Given the description of an element on the screen output the (x, y) to click on. 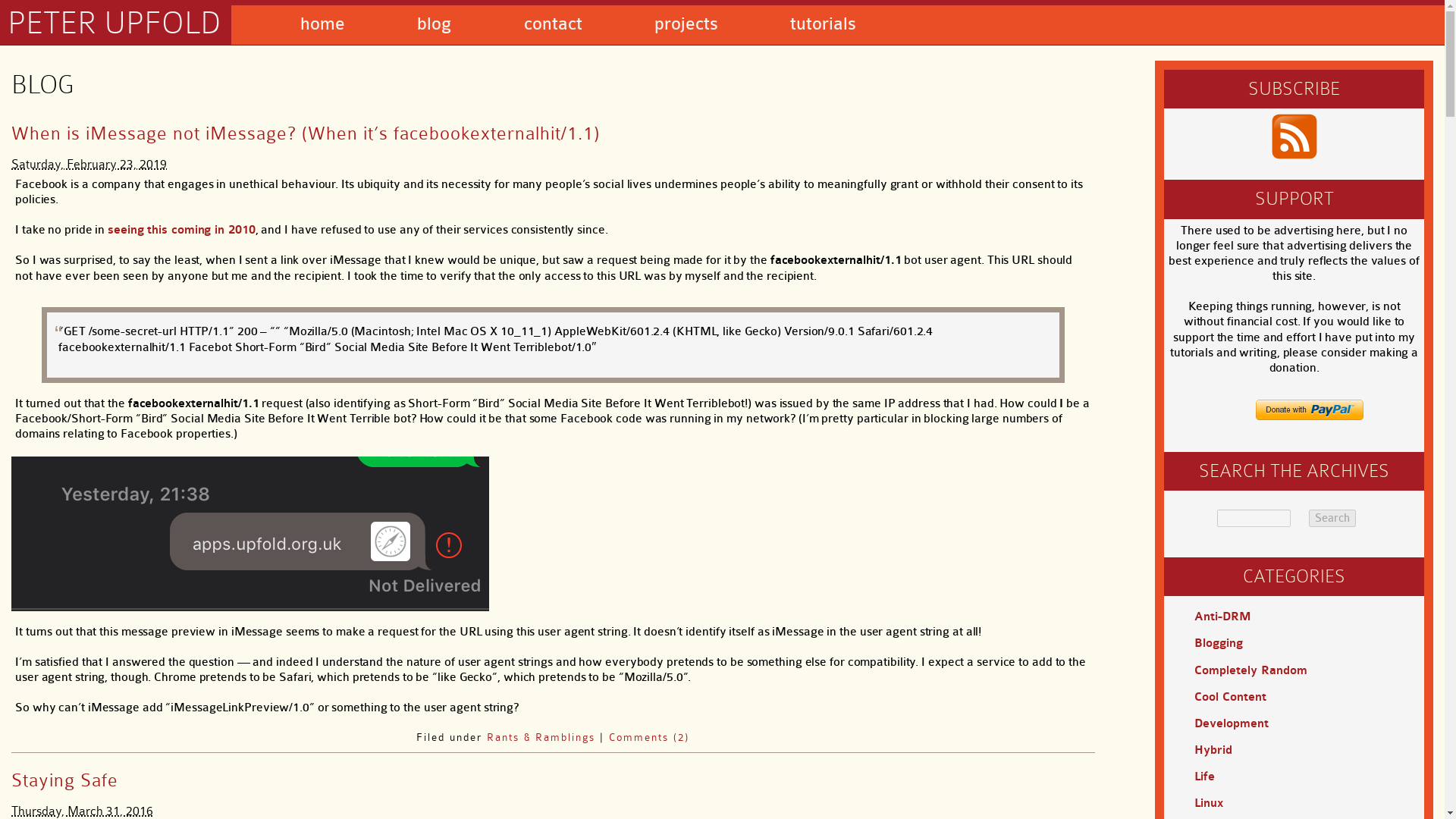
tutorials (823, 23)
seeing this coming in 2010 (180, 229)
projects (685, 23)
PETER UPFOLD (114, 22)
Staying Safe (64, 780)
blog (433, 23)
home (322, 23)
Search (1331, 518)
contact (553, 23)
